Given the description of an element on the screen output the (x, y) to click on. 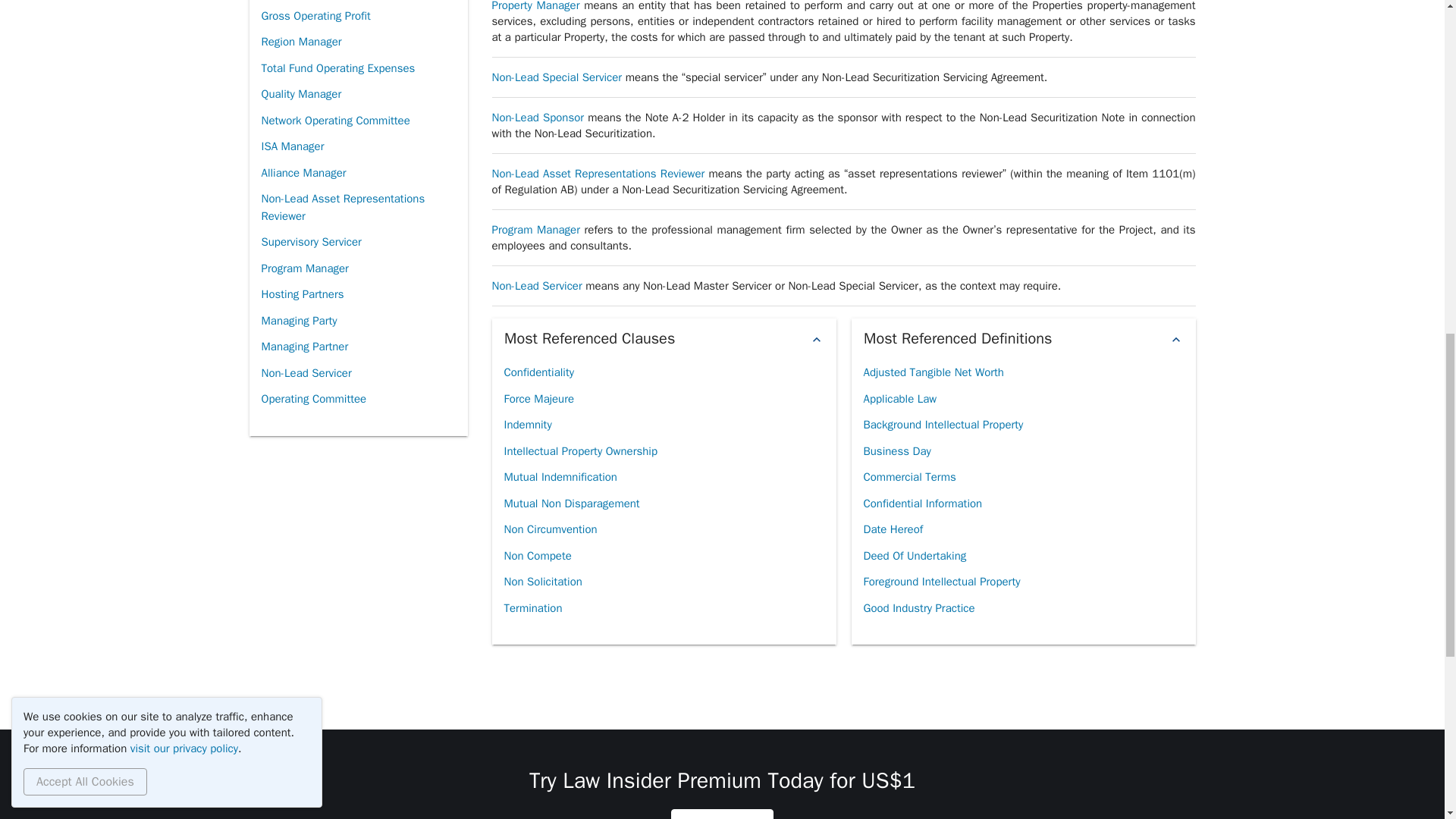
Region Manager (300, 41)
Gross Operating Profit (314, 16)
Alliance Manager (303, 172)
Quality Manager (300, 94)
ISA Manager (291, 146)
Network Operating Committee (334, 120)
Total Fund Operating Expenses (337, 68)
Operating Advisor Standard (328, 1)
